Given the description of an element on the screen output the (x, y) to click on. 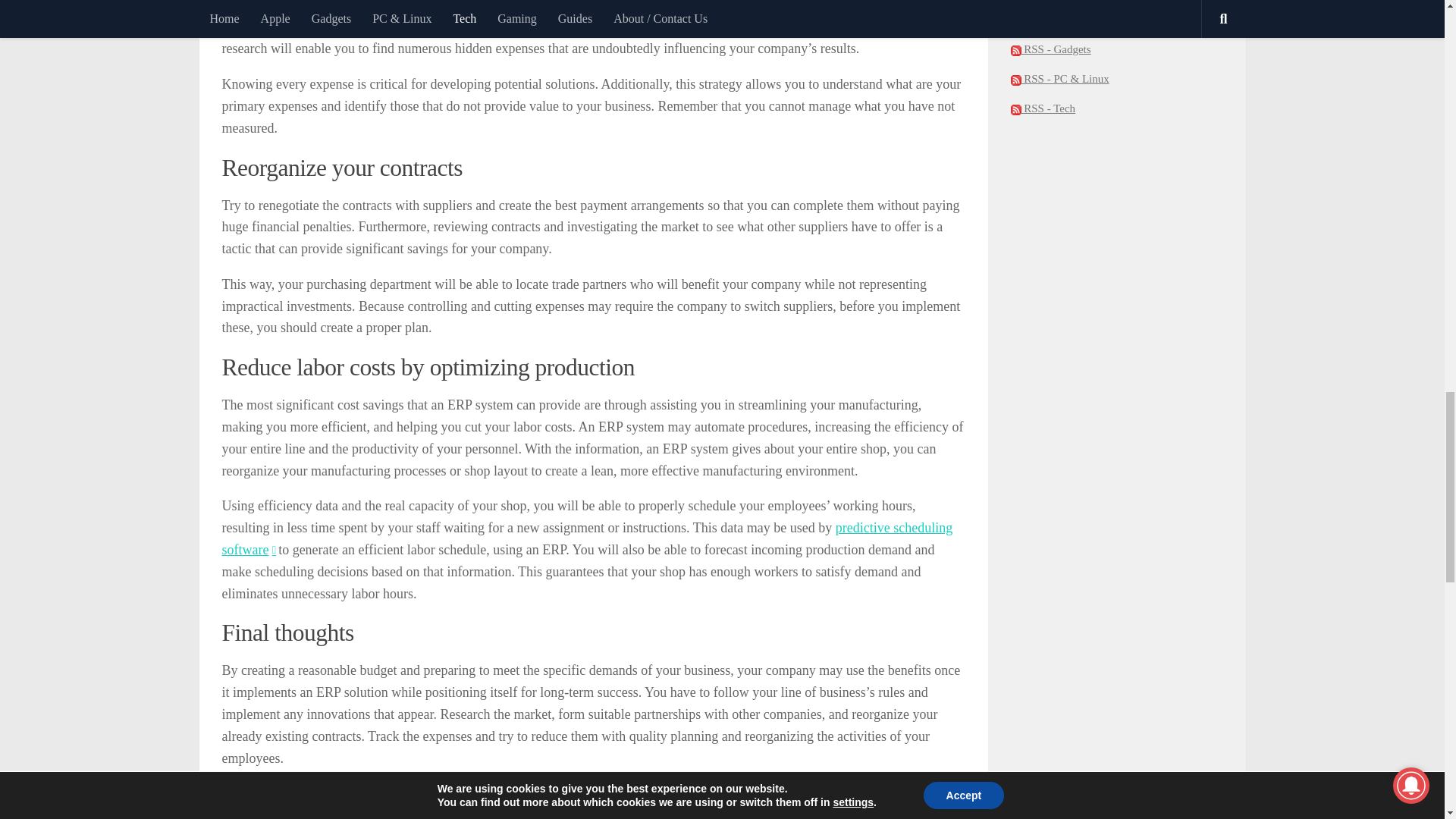
Facebook (239, 800)
Facebook (239, 800)
predictive scheduling software (586, 538)
